Given the description of an element on the screen output the (x, y) to click on. 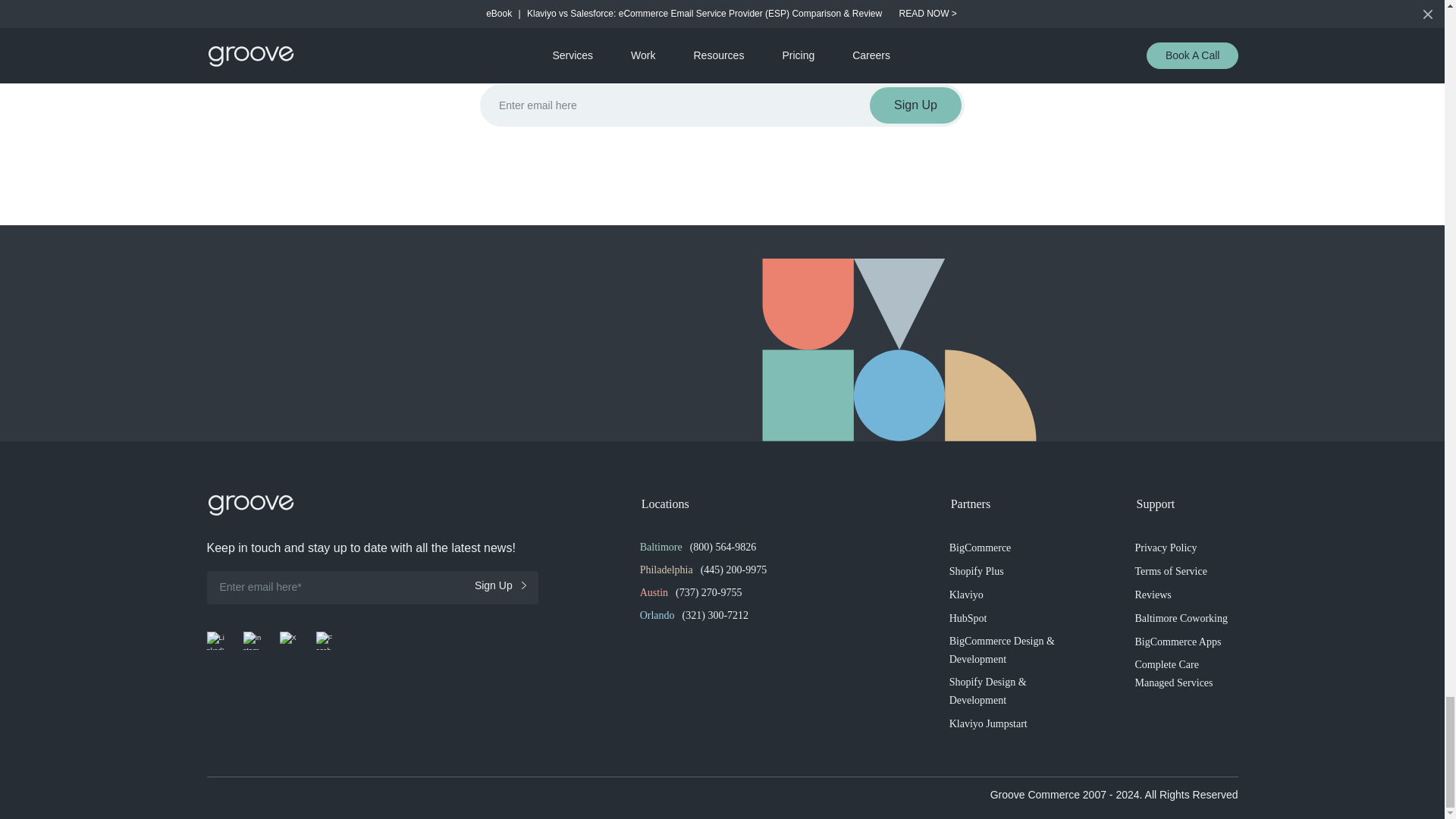
Sign Up (499, 585)
Sign Up (914, 104)
